Given the description of an element on the screen output the (x, y) to click on. 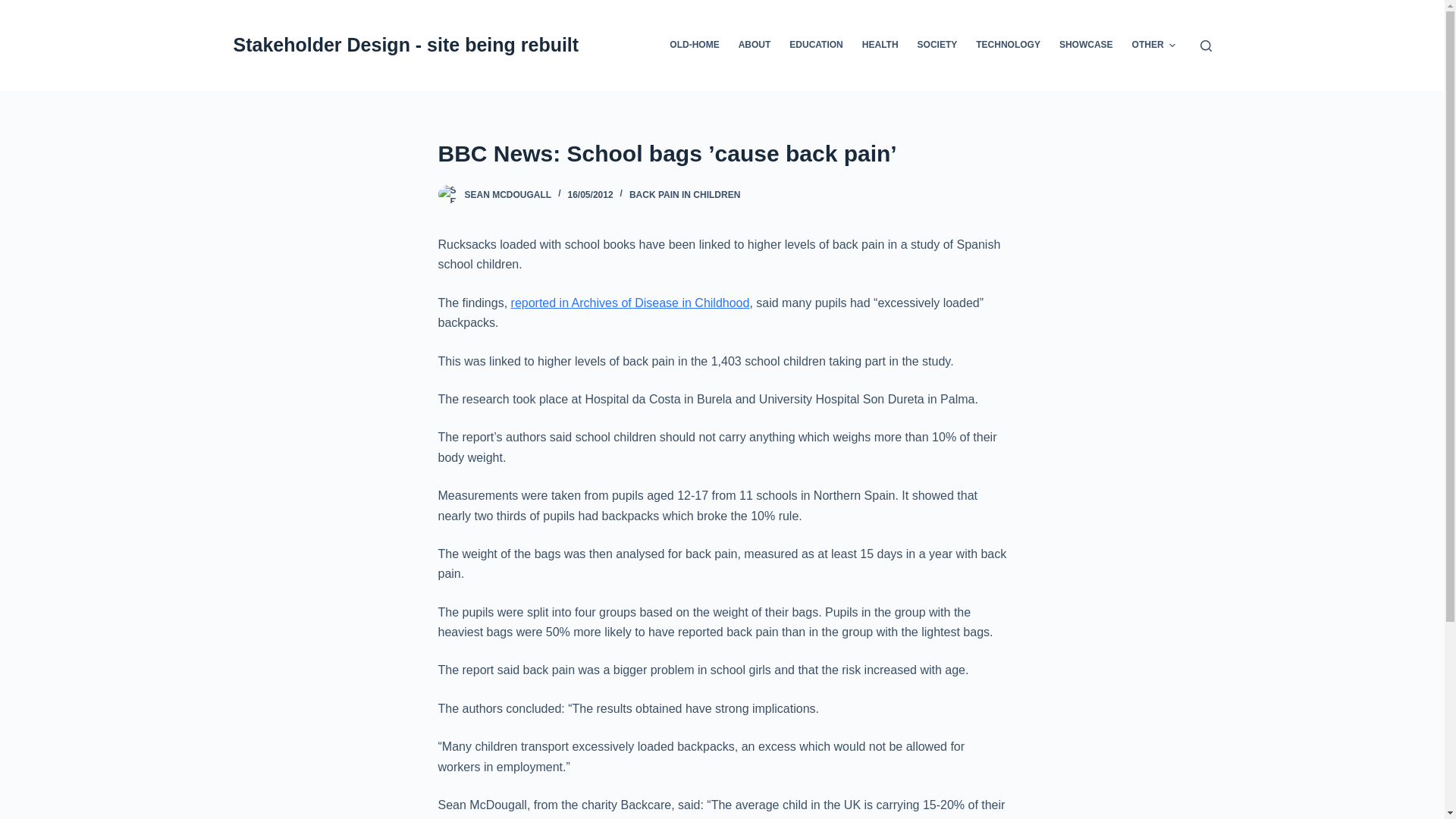
Stakeholder Design - site being rebuilt (405, 44)
SEAN MCDOUGALL (507, 194)
TECHNOLOGY (1007, 45)
Posts by Sean McDougall (507, 194)
BACK PAIN IN CHILDREN (683, 194)
Skip to content (15, 7)
reported in Archives of Disease in Childhood (630, 302)
